Given the description of an element on the screen output the (x, y) to click on. 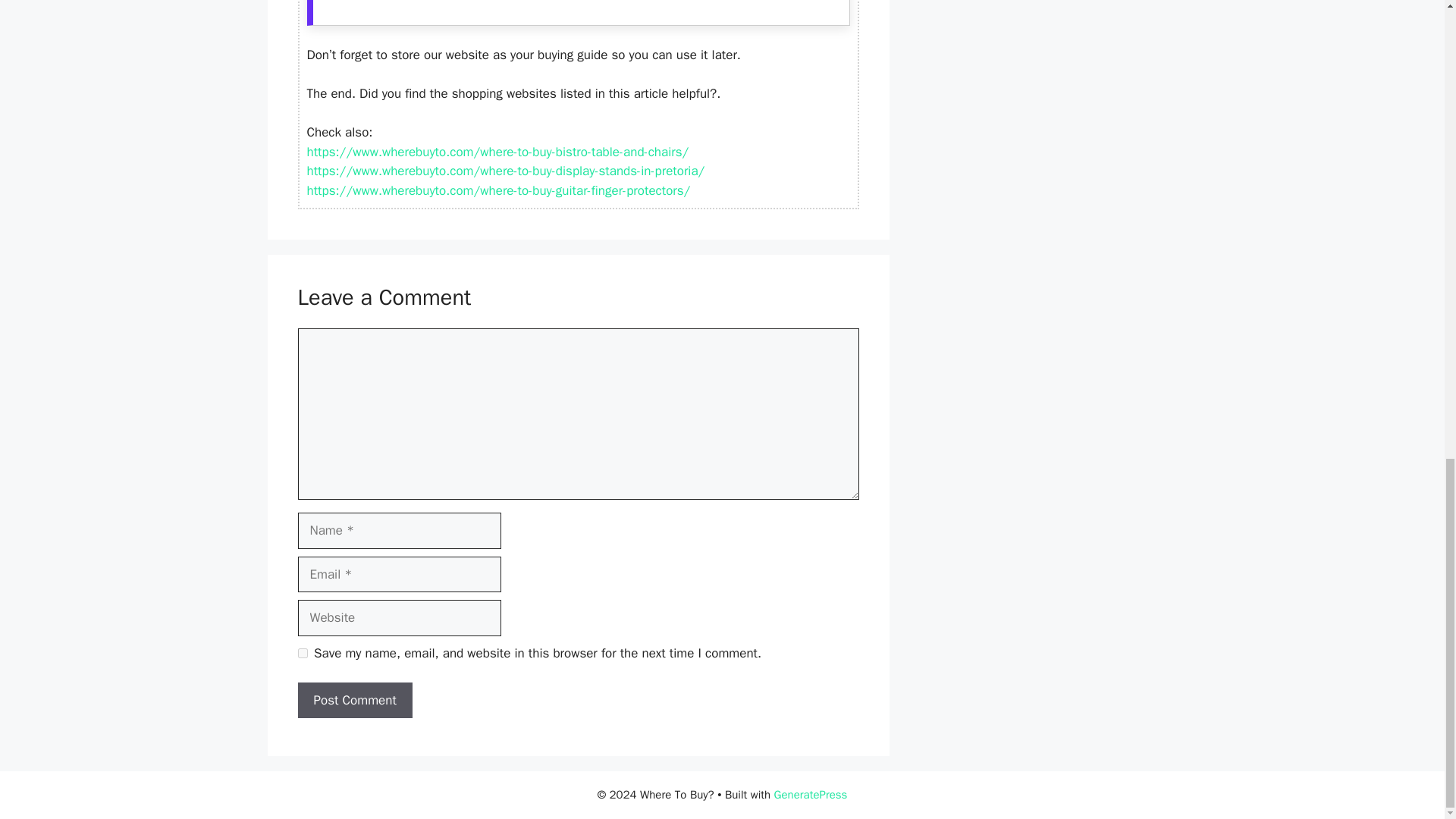
yes (302, 653)
Post Comment (354, 700)
Post Comment (354, 700)
GeneratePress (810, 794)
